Given the description of an element on the screen output the (x, y) to click on. 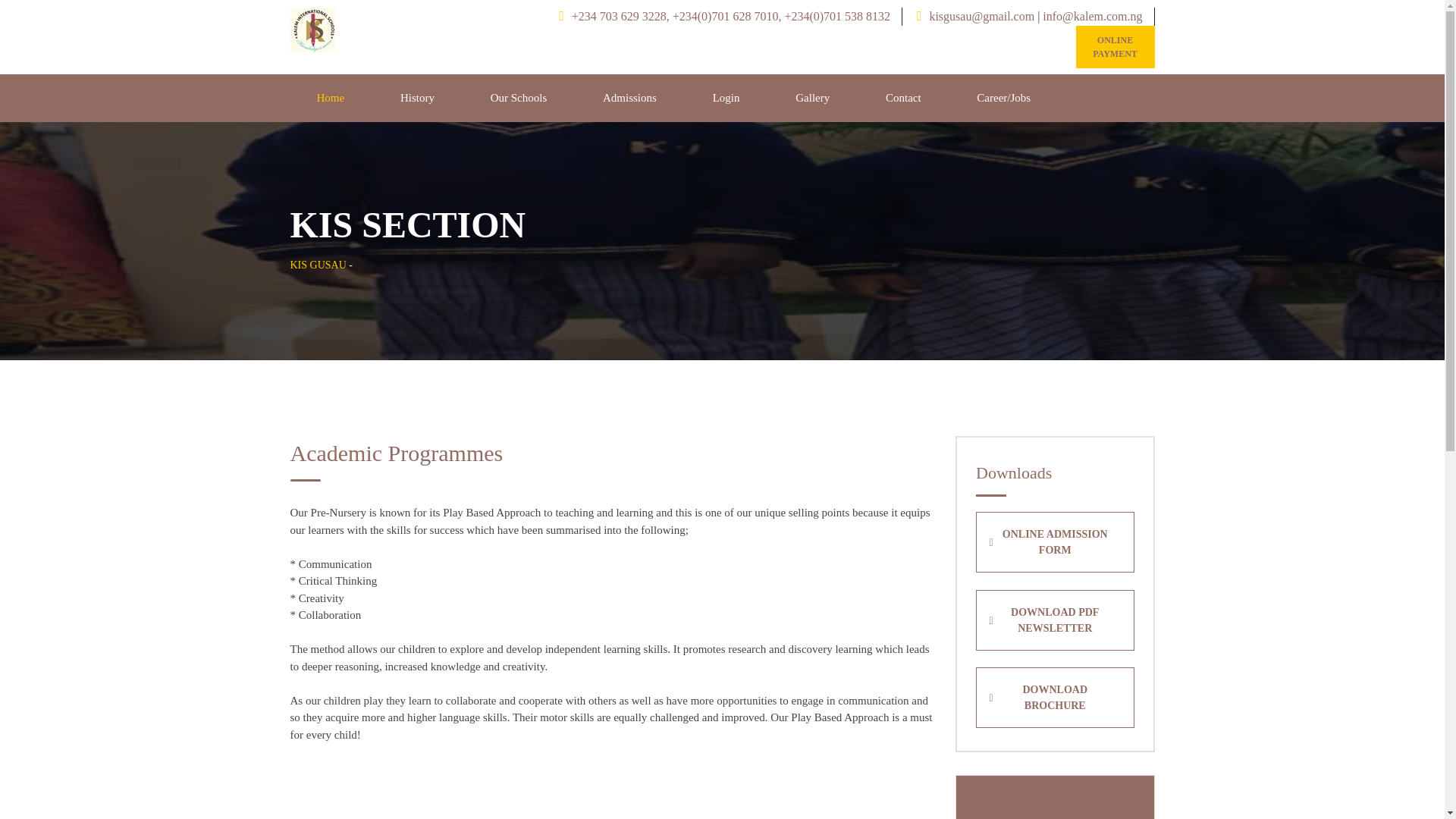
ONLINE PAYMENT (1114, 46)
History (417, 98)
Gallery (812, 98)
Contact (903, 98)
Our Schools (518, 98)
Home (330, 98)
Admissions (629, 98)
Login (726, 98)
